Given the description of an element on the screen output the (x, y) to click on. 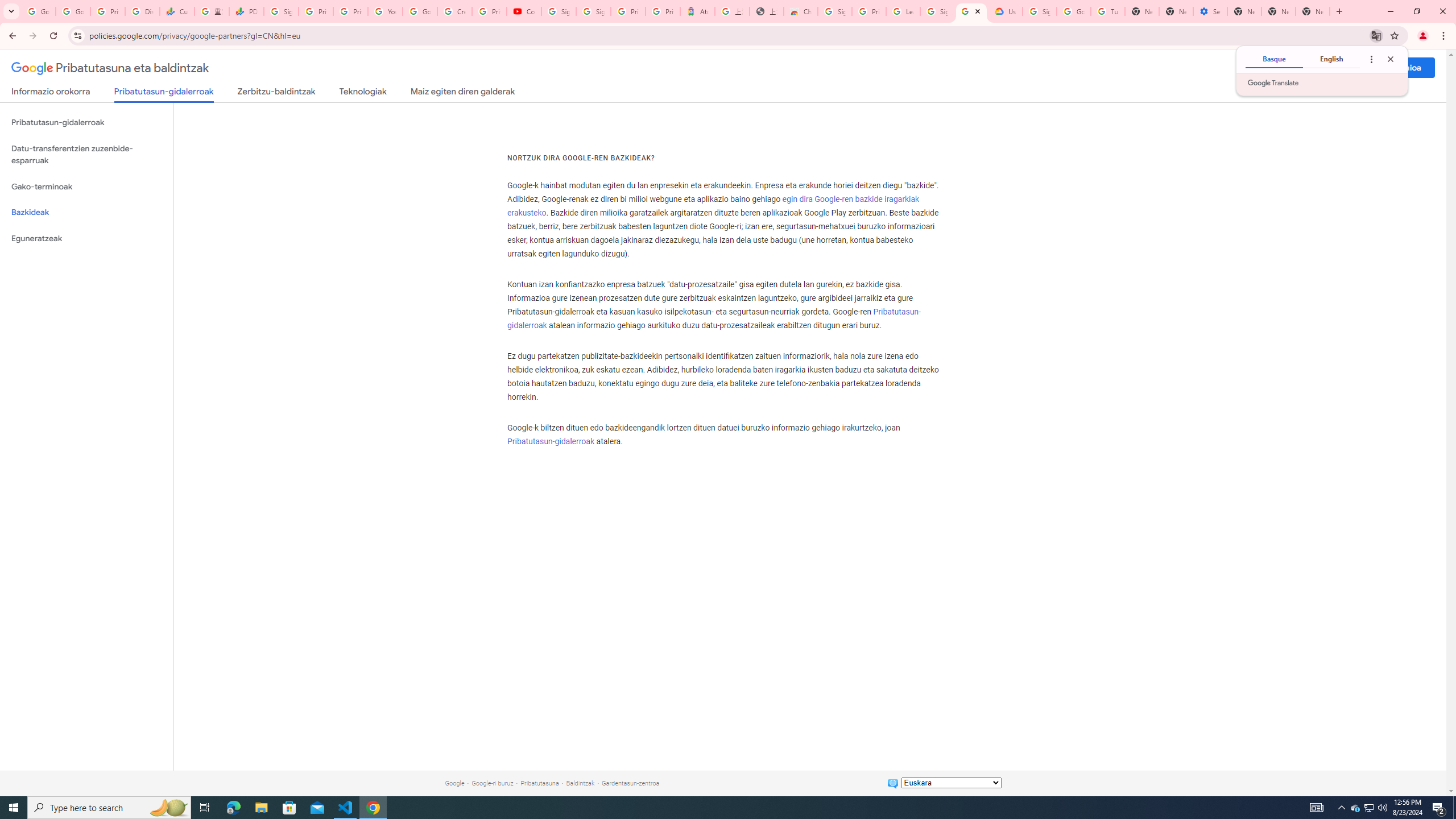
Pribatutasuna eta baldintzak (110, 68)
Pribatutasun-gidalerroak (550, 441)
Google Account Help (1073, 11)
Informazio orokorra (50, 93)
Sign in - Google Accounts (937, 11)
egin dira Google-ren bazkide iragarkiak erakusteko (713, 206)
English (1331, 58)
Sign in - Google Accounts (1039, 11)
Currencies - Google Finance (176, 11)
Gako-terminoak (86, 186)
Google-ren aplikazioak (1350, 67)
